Given the description of an element on the screen output the (x, y) to click on. 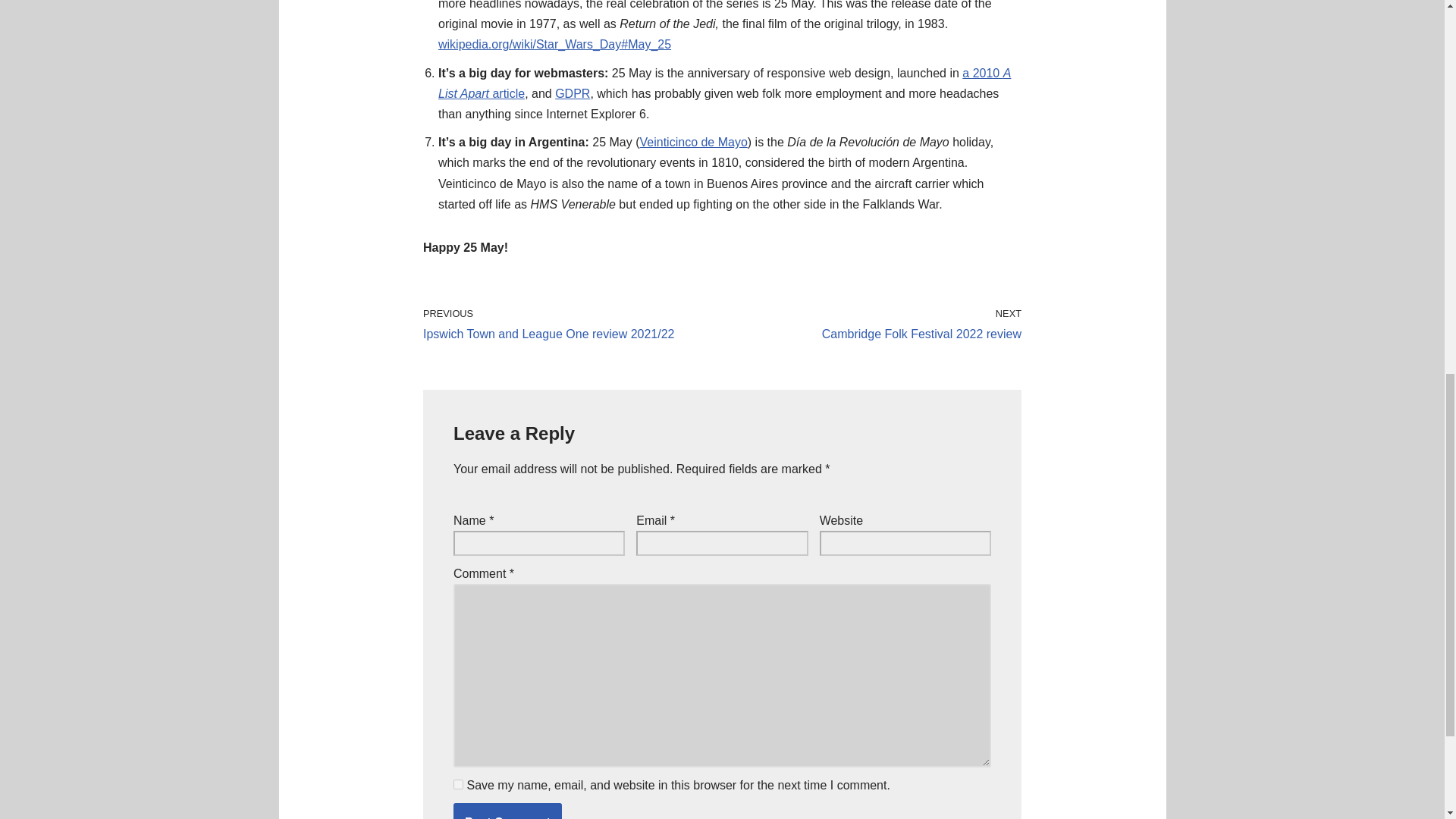
a 2010 A List Apart article (724, 82)
GDPR (571, 92)
Veinticinco de Mayo (694, 141)
Post Comment (507, 811)
yes (457, 784)
Post Comment (507, 811)
